Given the description of an element on the screen output the (x, y) to click on. 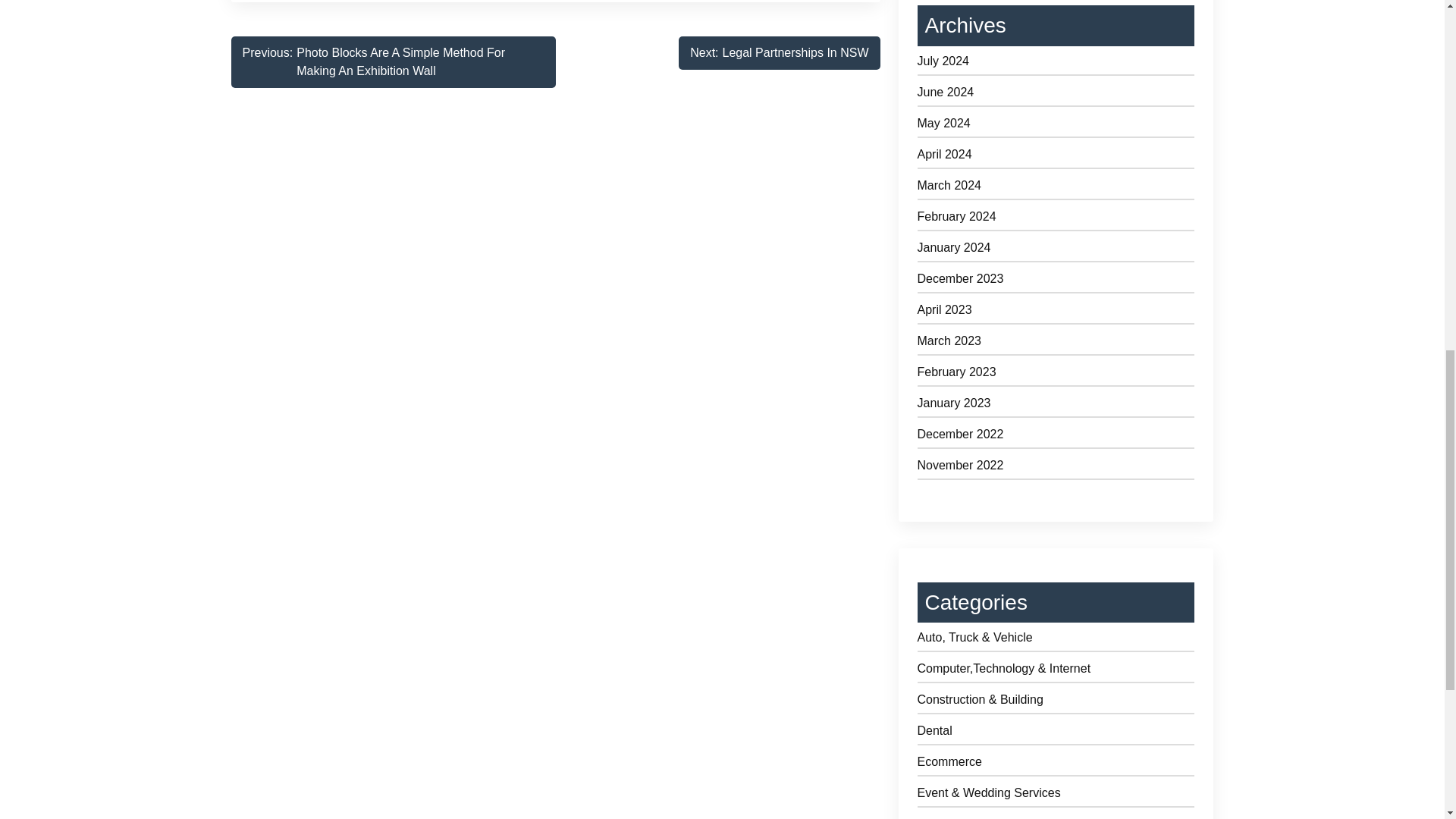
April 2023 (1056, 312)
January 2024 (1056, 250)
Ecommerce (1056, 764)
July 2024 (1056, 64)
December 2023 (1056, 281)
April 2024 (1056, 156)
February 2023 (1056, 374)
March 2023 (1056, 343)
December 2022 (1056, 436)
March 2024 (1056, 187)
May 2024 (1056, 126)
January 2023 (778, 52)
February 2024 (1056, 405)
